Given the description of an element on the screen output the (x, y) to click on. 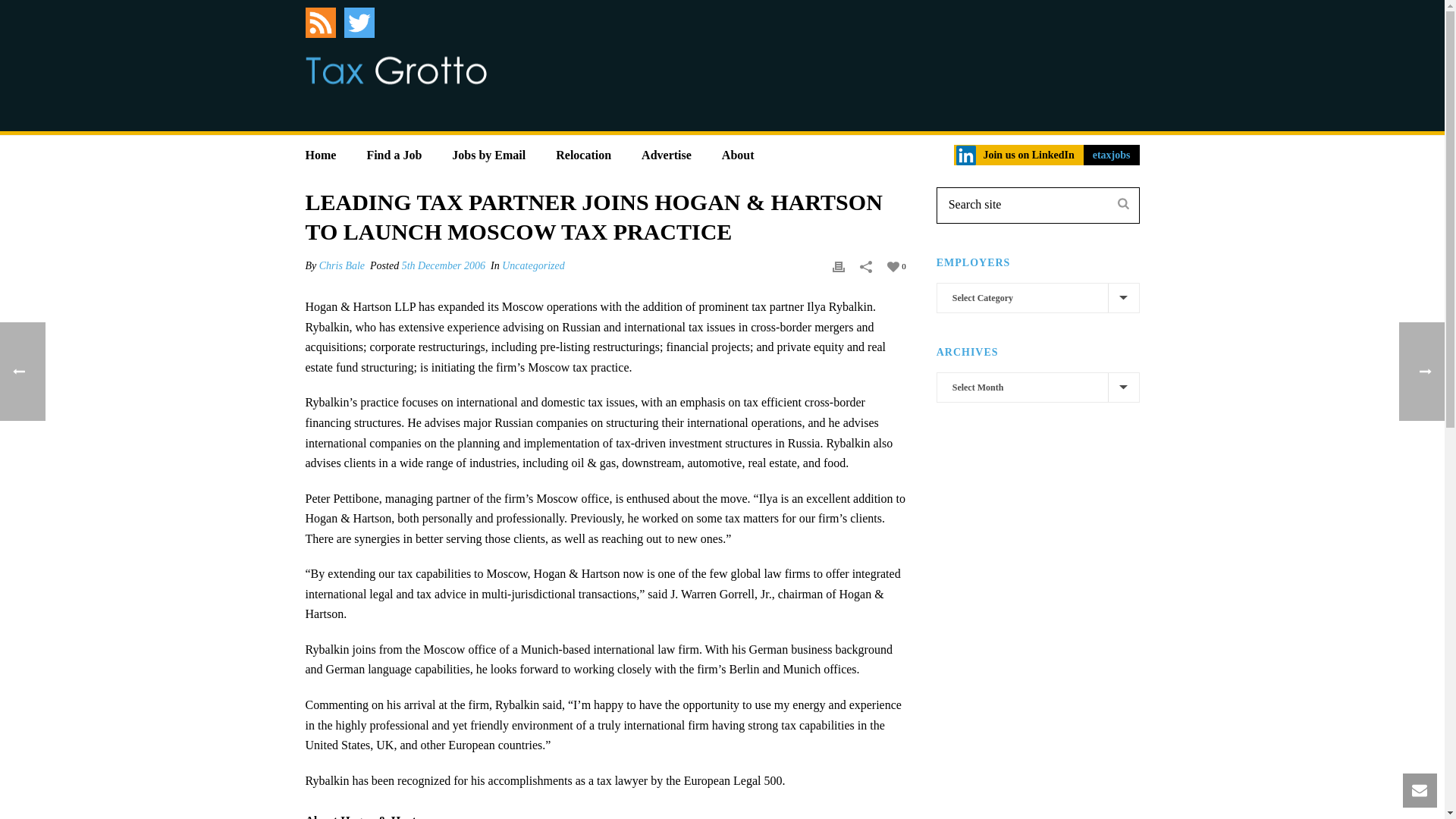
Tax Grotto (395, 70)
Relocation (583, 149)
Advertise (666, 149)
Jobs by Email (488, 149)
Advertise (666, 149)
Relocation (583, 149)
Home (319, 149)
Uncategorized (533, 265)
About (738, 149)
About (738, 149)
Jobs by Email (488, 149)
Home (319, 149)
0 (895, 265)
Movers and Shakers in the Global Tax Market (395, 70)
Posts by Chris Bale (341, 265)
